Given the description of an element on the screen output the (x, y) to click on. 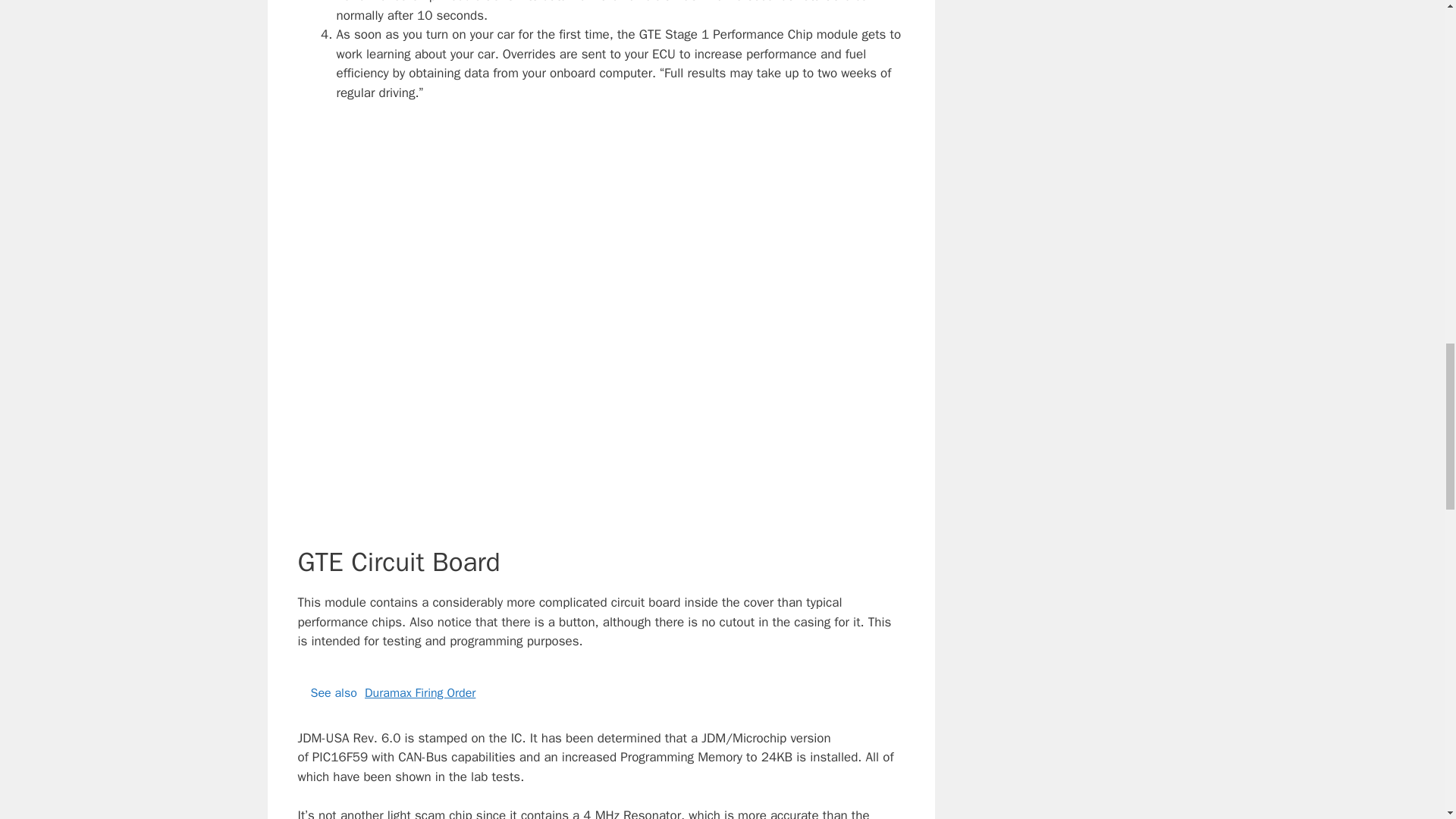
See also  Duramax Firing Order (600, 692)
